Given the description of an element on the screen output the (x, y) to click on. 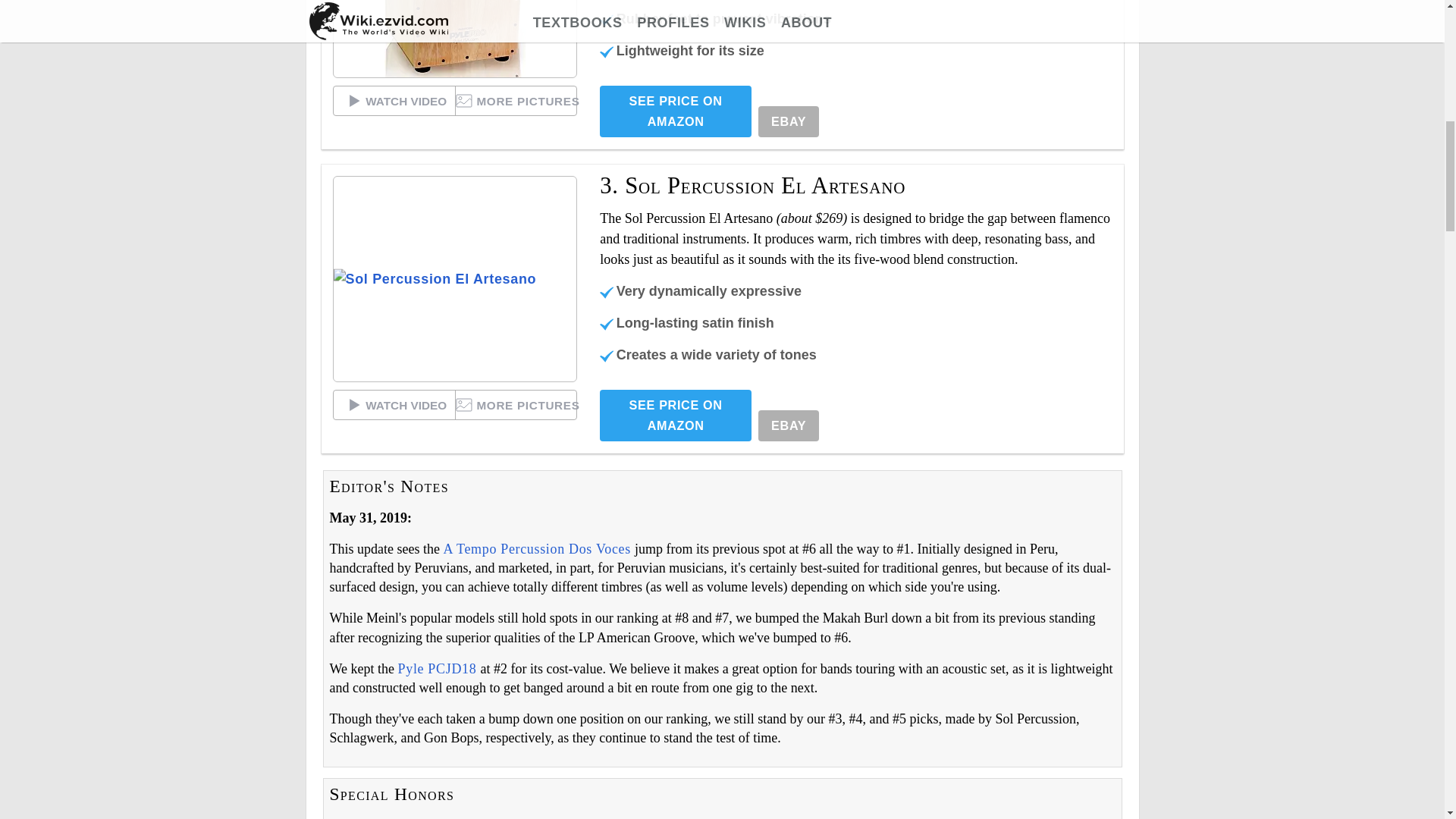
MORE PICTURES (515, 100)
